Given the description of an element on the screen output the (x, y) to click on. 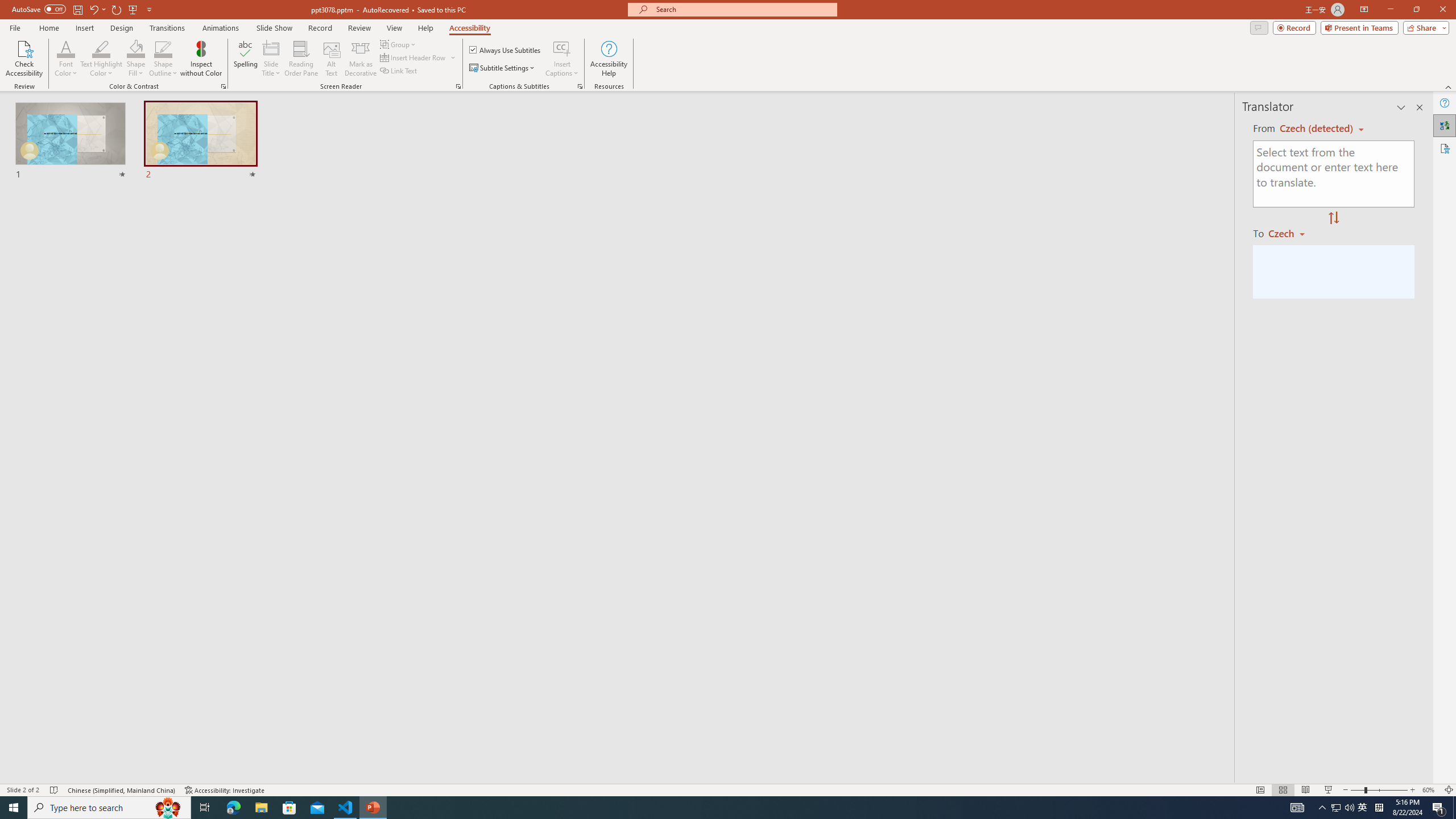
Always Use Subtitles (505, 49)
Czech (1291, 232)
Mark as Decorative (360, 58)
